Given the description of an element on the screen output the (x, y) to click on. 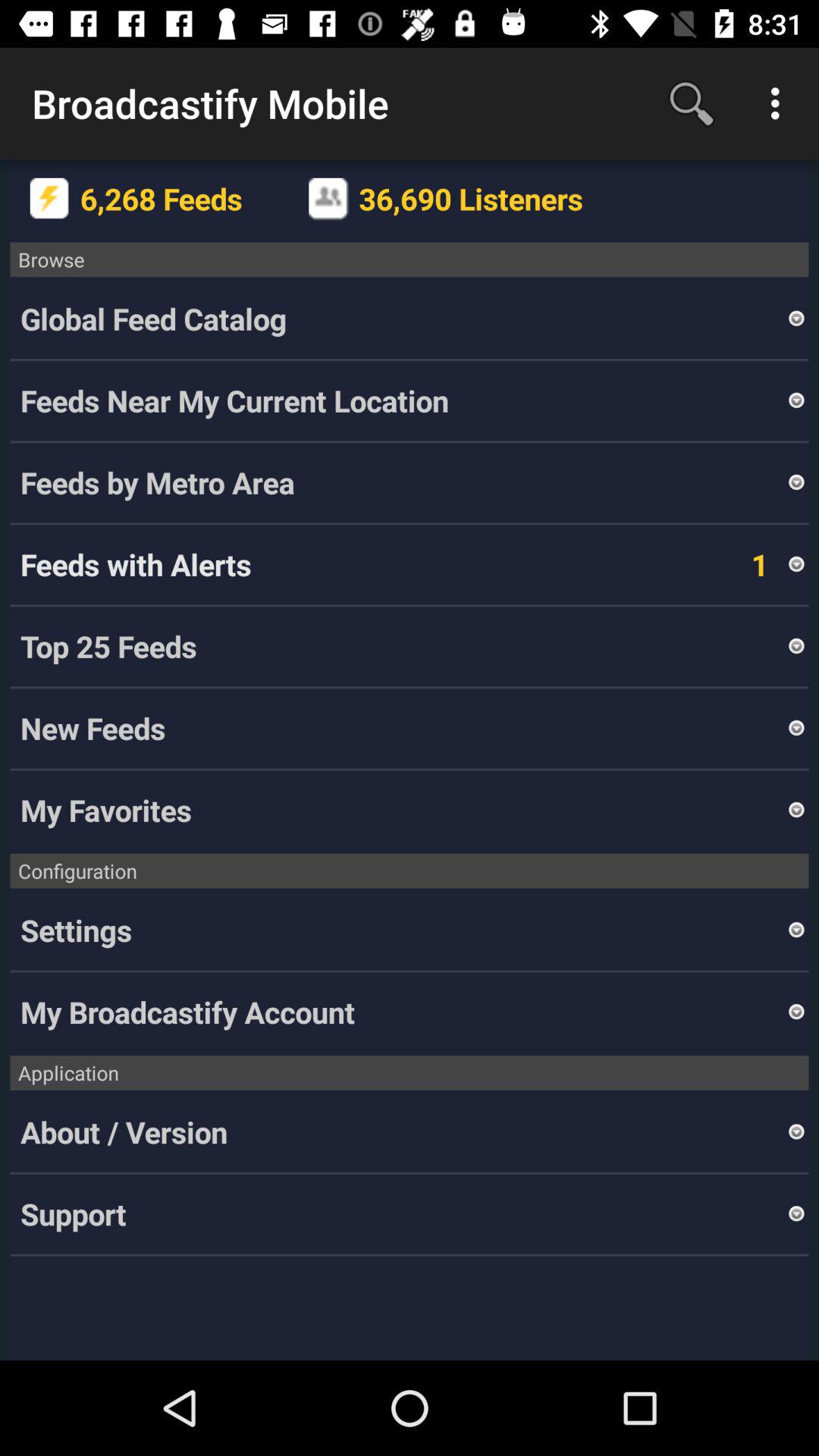
turn off the feeds with alerts item (135, 564)
